Given the description of an element on the screen output the (x, y) to click on. 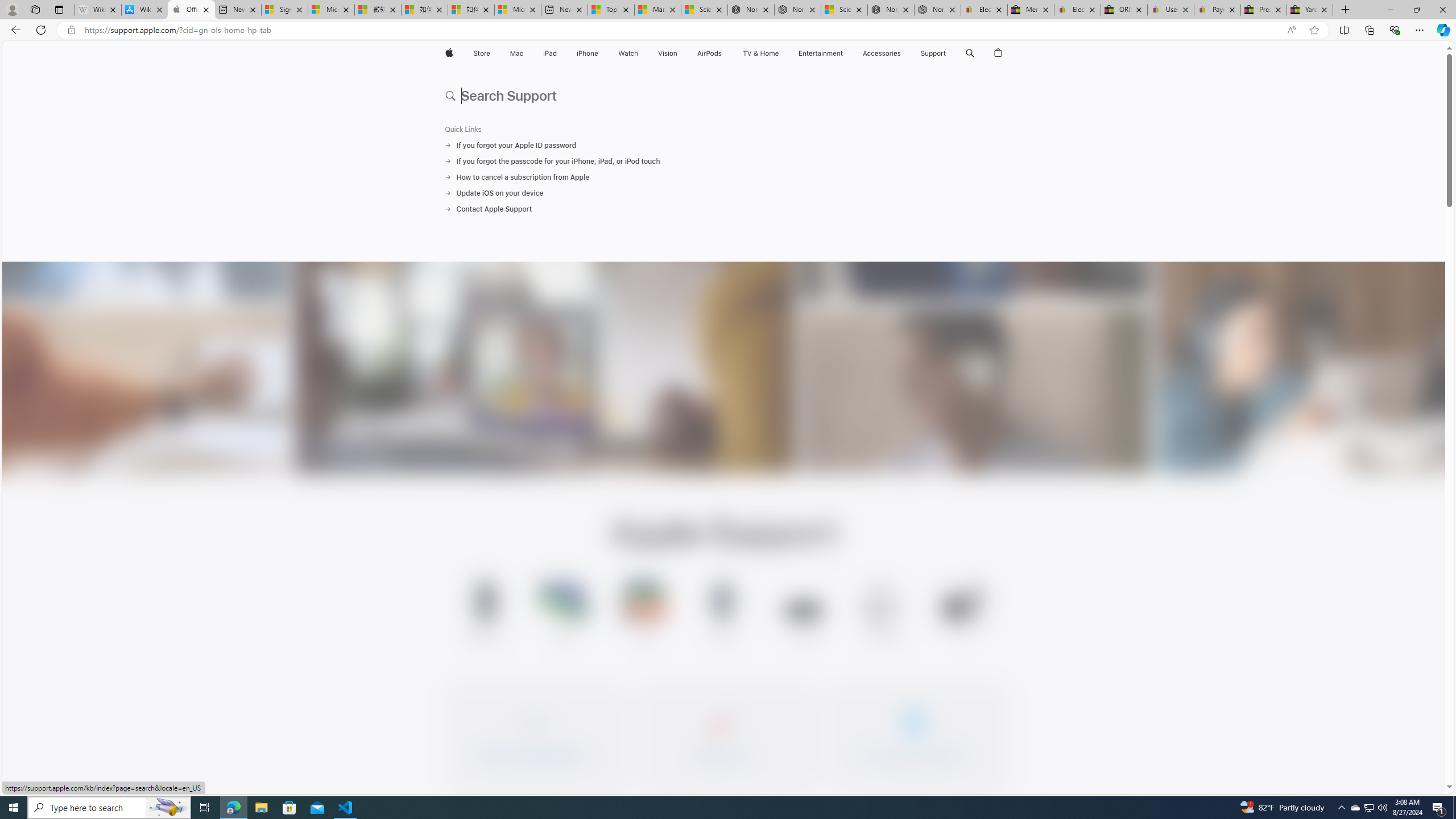
How to cancel a subscription from Apple (723, 177)
Search Support (724, 93)
TV and Home menu (780, 53)
User Privacy Notice | eBay (1170, 9)
Search Support (969, 53)
Watch menu (640, 53)
Official Apple Support (191, 9)
Press Room - eBay Inc. (1263, 9)
Support (932, 53)
AirPods menu (723, 53)
Accessories (881, 53)
Update iOS on your device (723, 192)
